Given the description of an element on the screen output the (x, y) to click on. 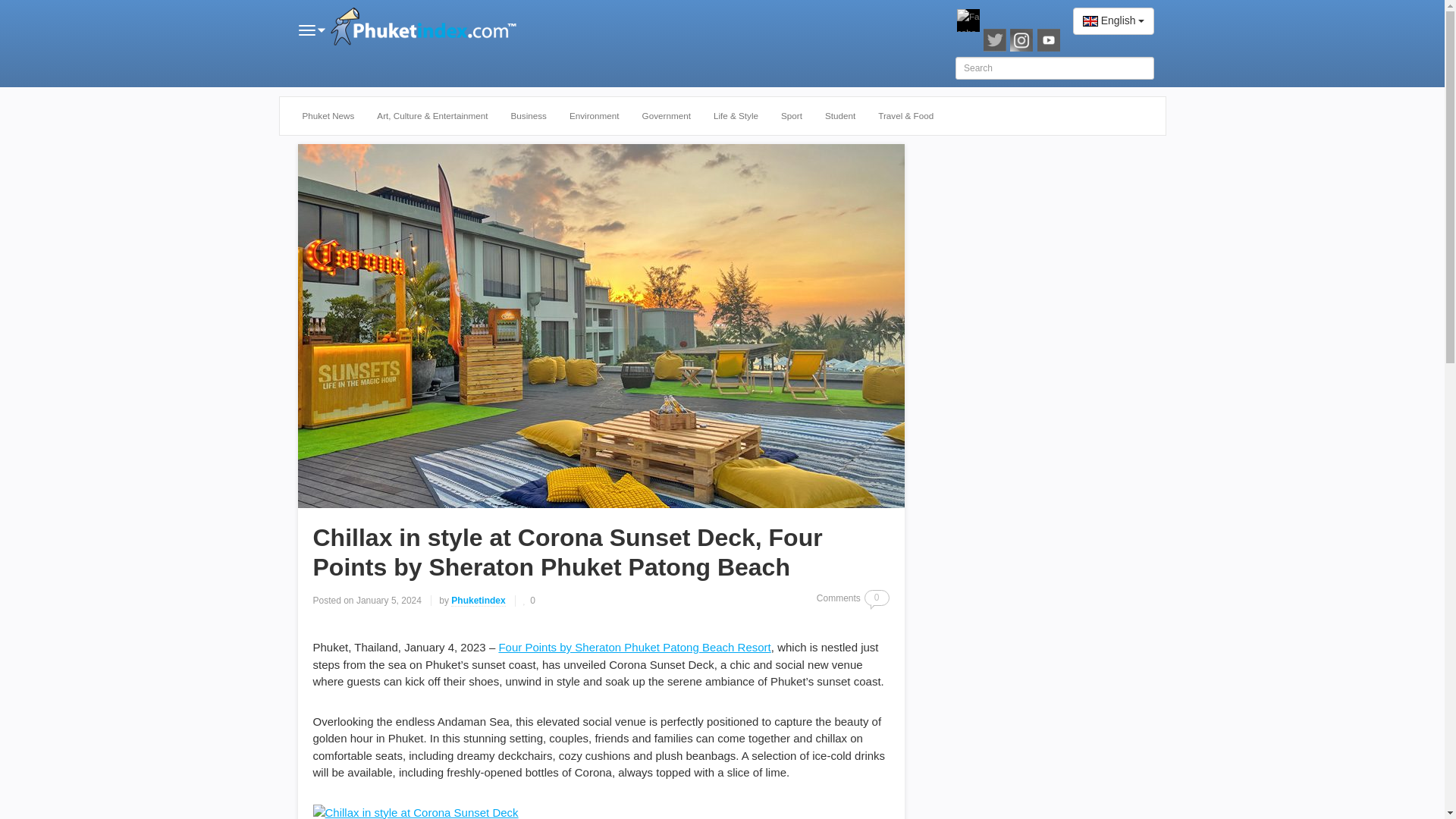
Like this (528, 600)
English (1113, 21)
Business (528, 116)
Four Points by Sheraton Phuket Patong Beach Resort (633, 646)
0 (528, 600)
Sport (791, 116)
Phuketindex.com (425, 28)
Phuket News (328, 116)
Government (665, 116)
0 (876, 597)
Phuketindex (478, 600)
Student (839, 116)
Environment (593, 116)
